Given the description of an element on the screen output the (x, y) to click on. 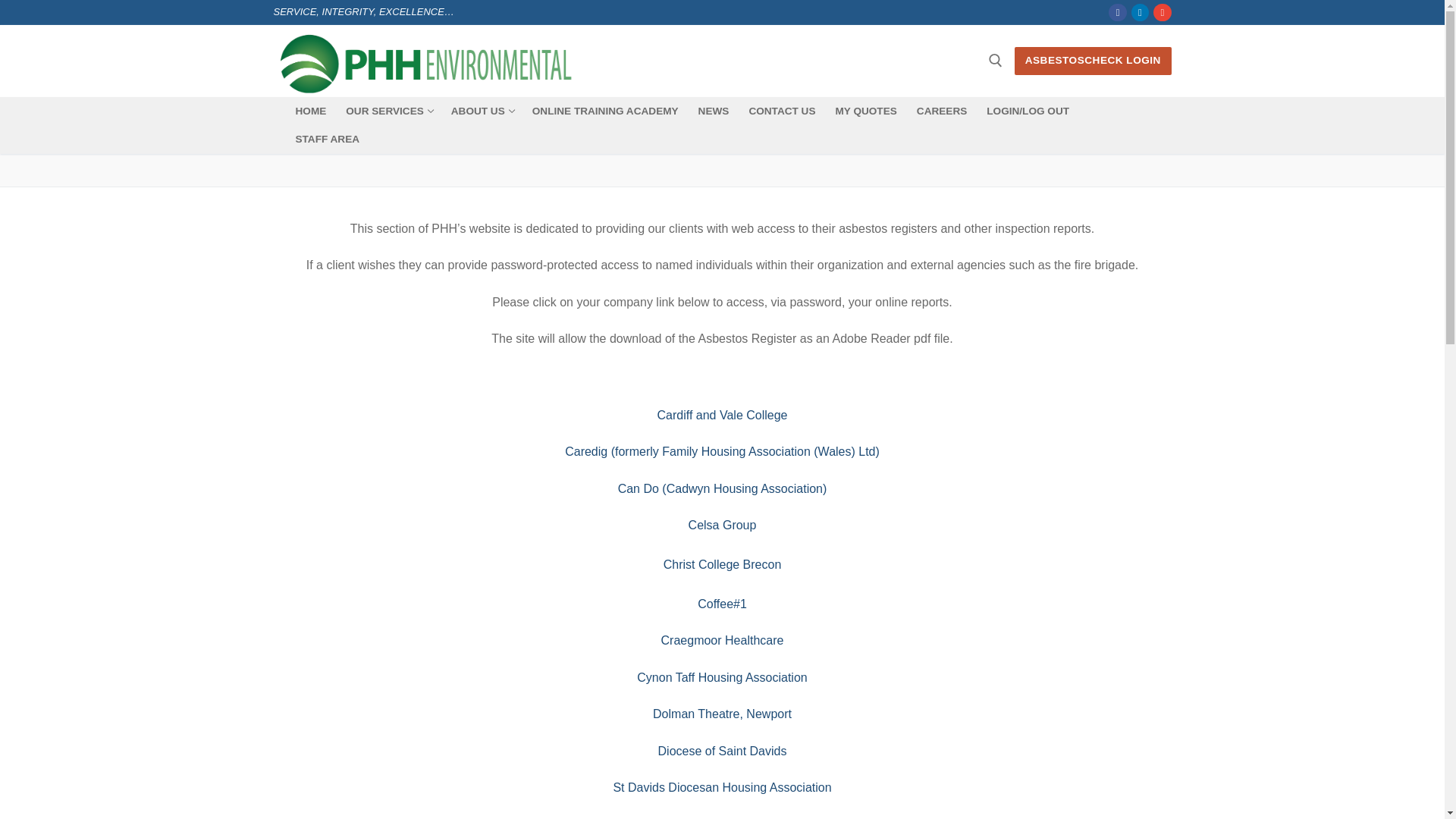
NEWS (713, 111)
Facebook (1117, 12)
ONLINE TRAINING ACADEMY (481, 111)
ASBESTOSCHECK LOGIN (605, 111)
LinkedIn (1092, 60)
HOME (1139, 12)
Email (388, 111)
CONTACT US (310, 111)
